Given the description of an element on the screen output the (x, y) to click on. 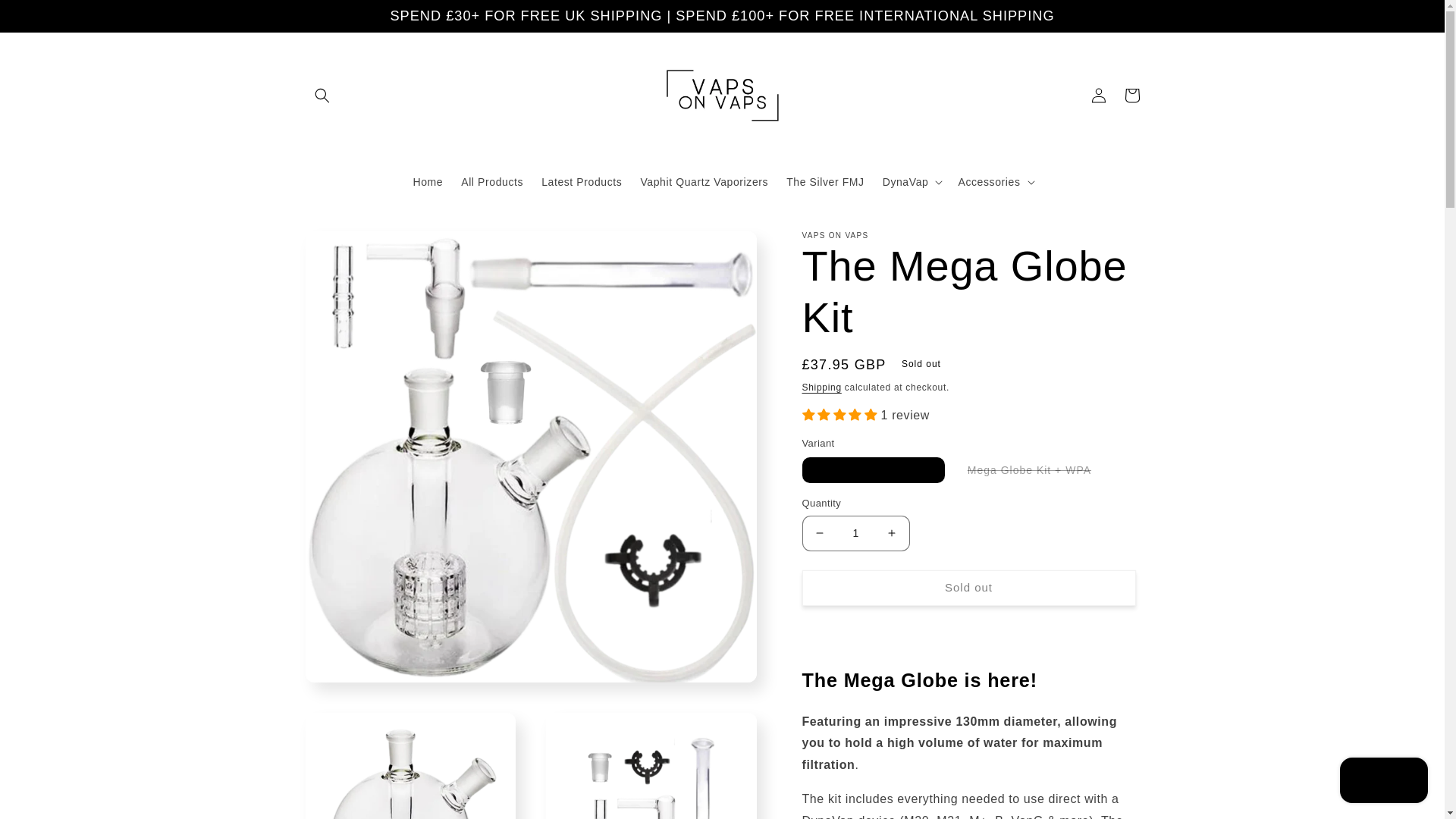
The Silver FMJ (825, 182)
Skip to content (45, 17)
All Products (491, 182)
Home (427, 182)
Shopify online store chat (1383, 781)
Vaphit Quartz Vaporizers (703, 182)
Latest Products (581, 182)
1 (856, 533)
